Given the description of an element on the screen output the (x, y) to click on. 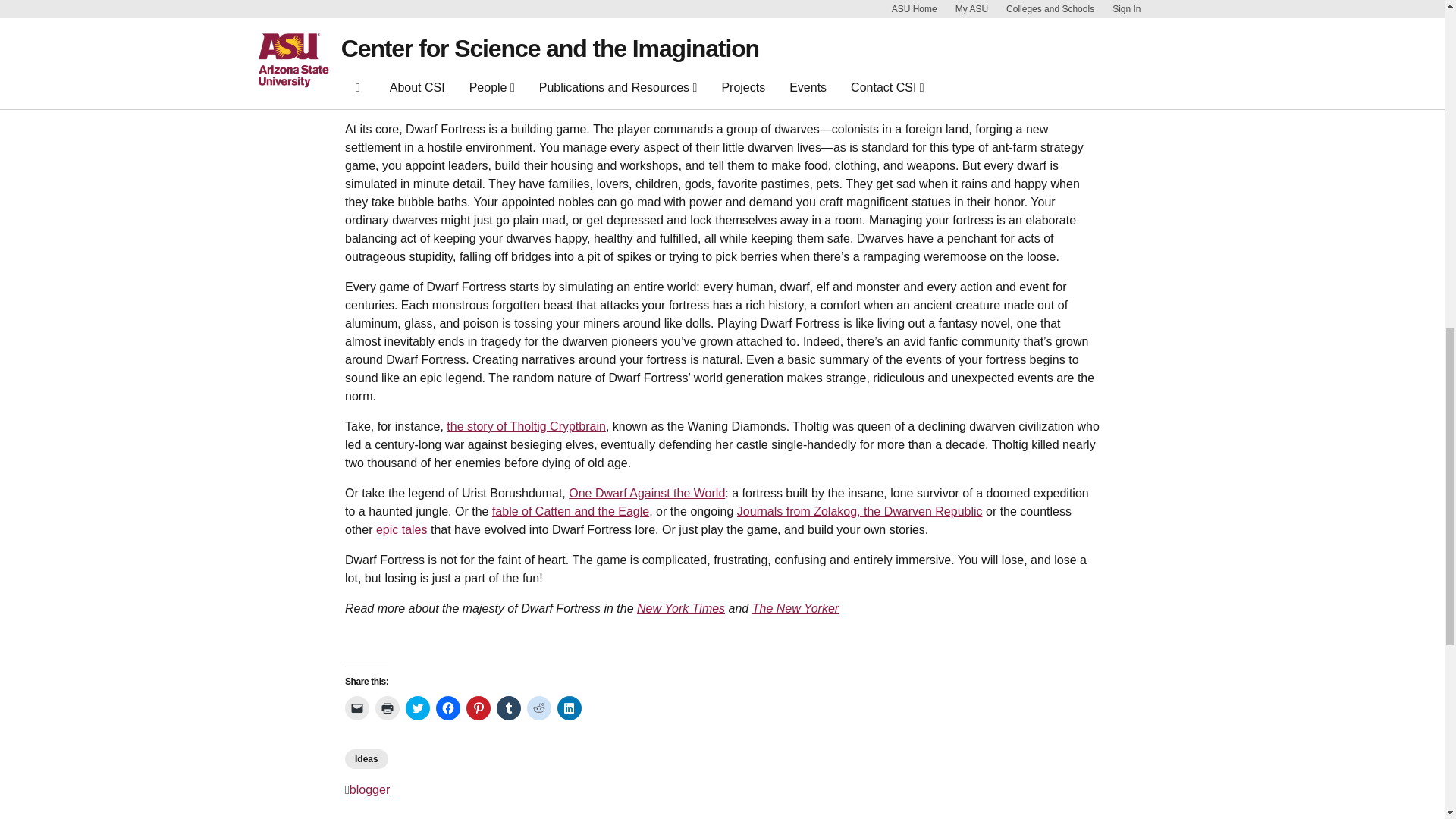
Angband (887, 43)
tutorials (558, 80)
ASCII graphics (567, 43)
guides (604, 80)
fan (737, 80)
